Given the description of an element on the screen output the (x, y) to click on. 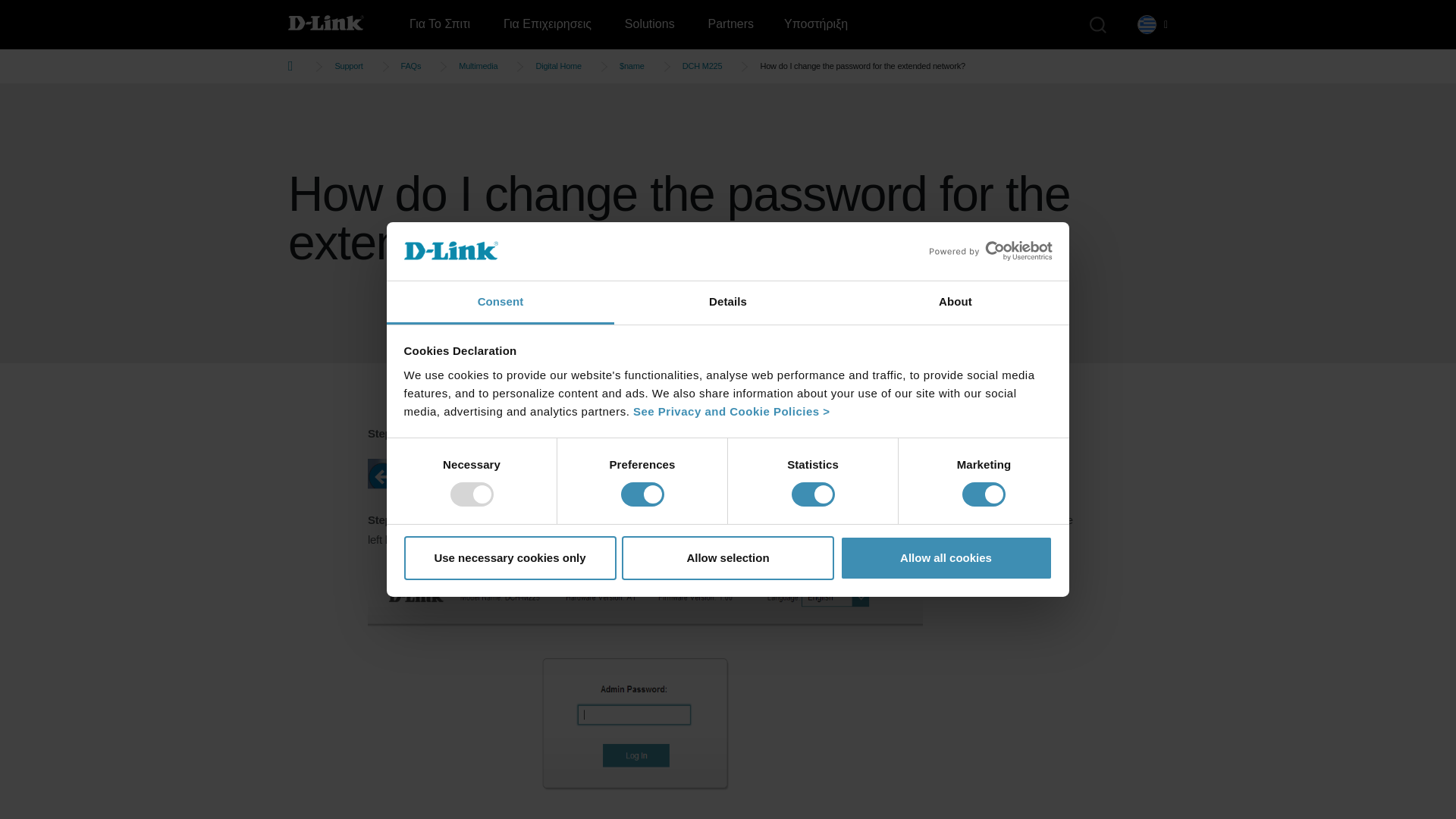
Details (727, 302)
Consent (500, 302)
Learn more about eu.dlink.com cookies (731, 410)
About (954, 302)
